Given the description of an element on the screen output the (x, y) to click on. 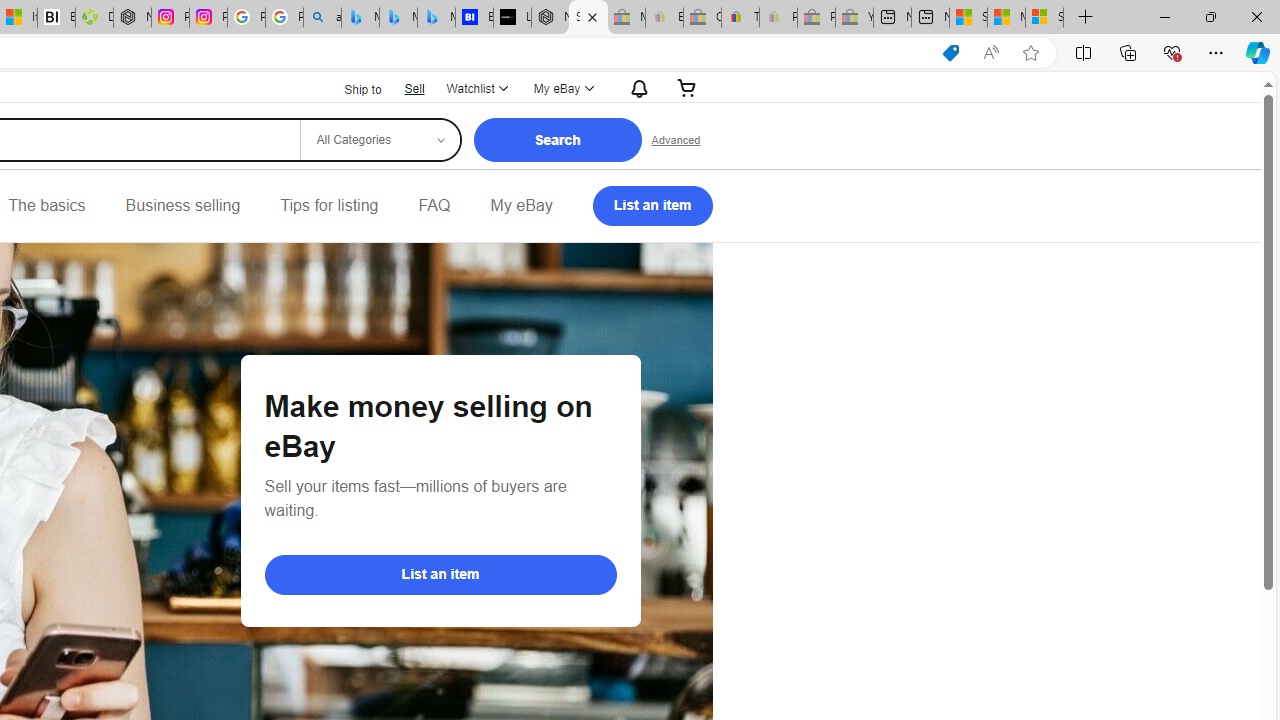
Sell (413, 87)
alabama high school quarterback dies - Search (321, 17)
Shanghai, China hourly forecast | Microsoft Weather (967, 17)
Payments Terms of Use | eBay.com - Sleeping (778, 17)
FAQ (434, 205)
Watchlist (476, 88)
Ship to (349, 89)
This site has coupons! Shopping in Microsoft Edge (950, 53)
Tips for listing (329, 205)
